Given the description of an element on the screen output the (x, y) to click on. 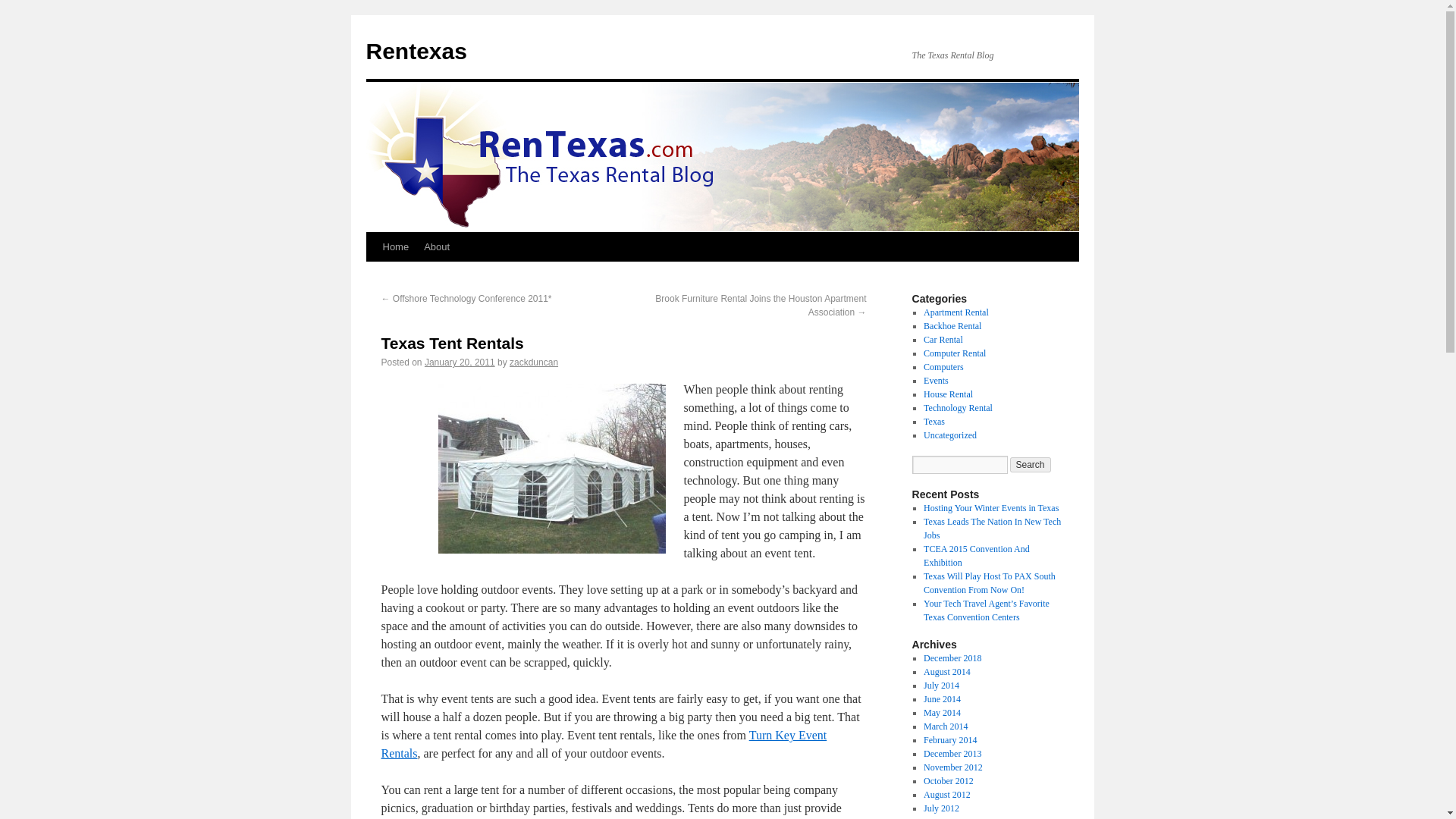
Apartment Rental (955, 312)
Rentexas (415, 50)
House Rental (947, 394)
Turn Key Event Rentals (603, 744)
Uncategorized (949, 434)
Backhoe Rental (952, 326)
Tent Rentals in Texas (603, 744)
Computers (943, 366)
Rentexas (415, 50)
Texas (933, 421)
Car Rental (942, 339)
About (436, 246)
outdoor tent (551, 468)
Technology Rental (957, 407)
View all posts by zackduncan (533, 362)
